Given the description of an element on the screen output the (x, y) to click on. 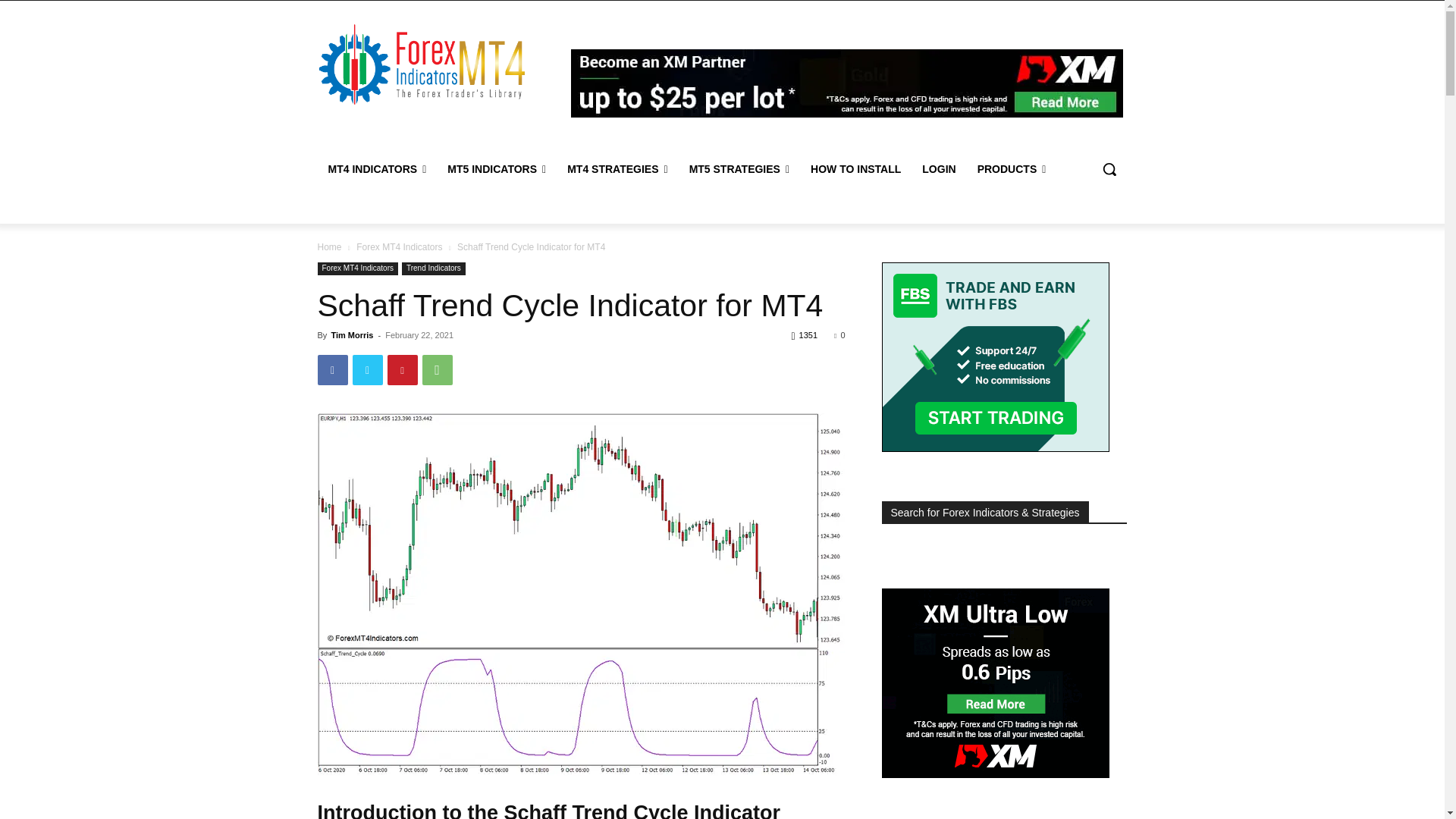
View all posts in Forex MT4 Indicators (399, 246)
Twitter (366, 369)
Pinterest (401, 369)
WhatsApp (436, 369)
Facebook (332, 369)
